Given the description of an element on the screen output the (x, y) to click on. 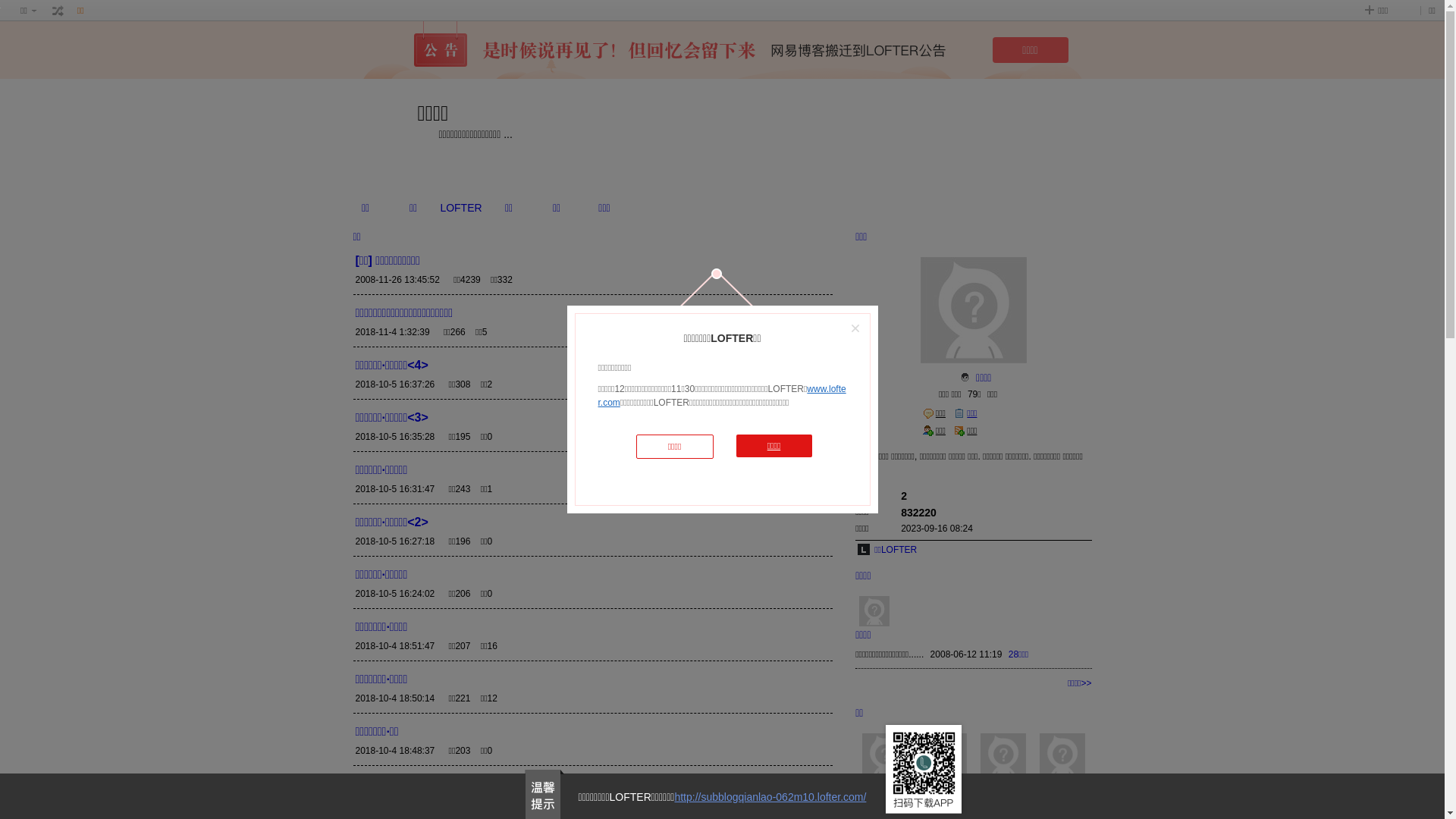
LOFTER Element type: text (460, 207)
www.lofter.com Element type: text (721, 395)
http://subblogqianlao-062m10.lofter.com/ Element type: text (770, 796)
  Element type: text (964, 377)
  Element type: text (58, 10)
